Given the description of an element on the screen output the (x, y) to click on. 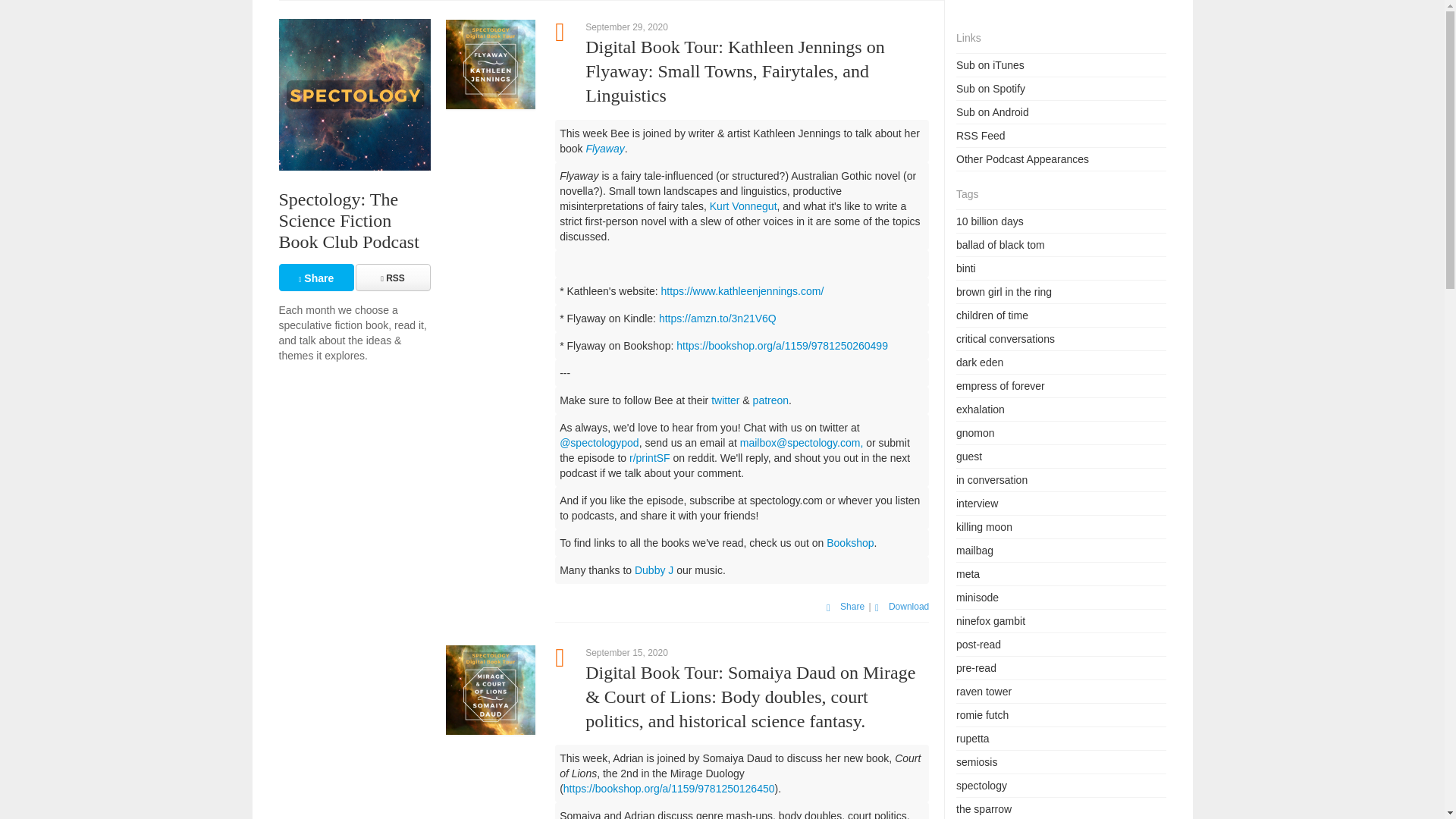
Download (901, 606)
twitter (725, 399)
patreon (770, 399)
RSS (392, 277)
View all posts filed under ballad of black tom (1000, 244)
Share (316, 277)
Share (316, 277)
Dubby J soundcloud (653, 570)
Flyaway (604, 148)
RSS feed (392, 277)
Kurt Vonnegut (743, 205)
Share (845, 606)
